Given the description of an element on the screen output the (x, y) to click on. 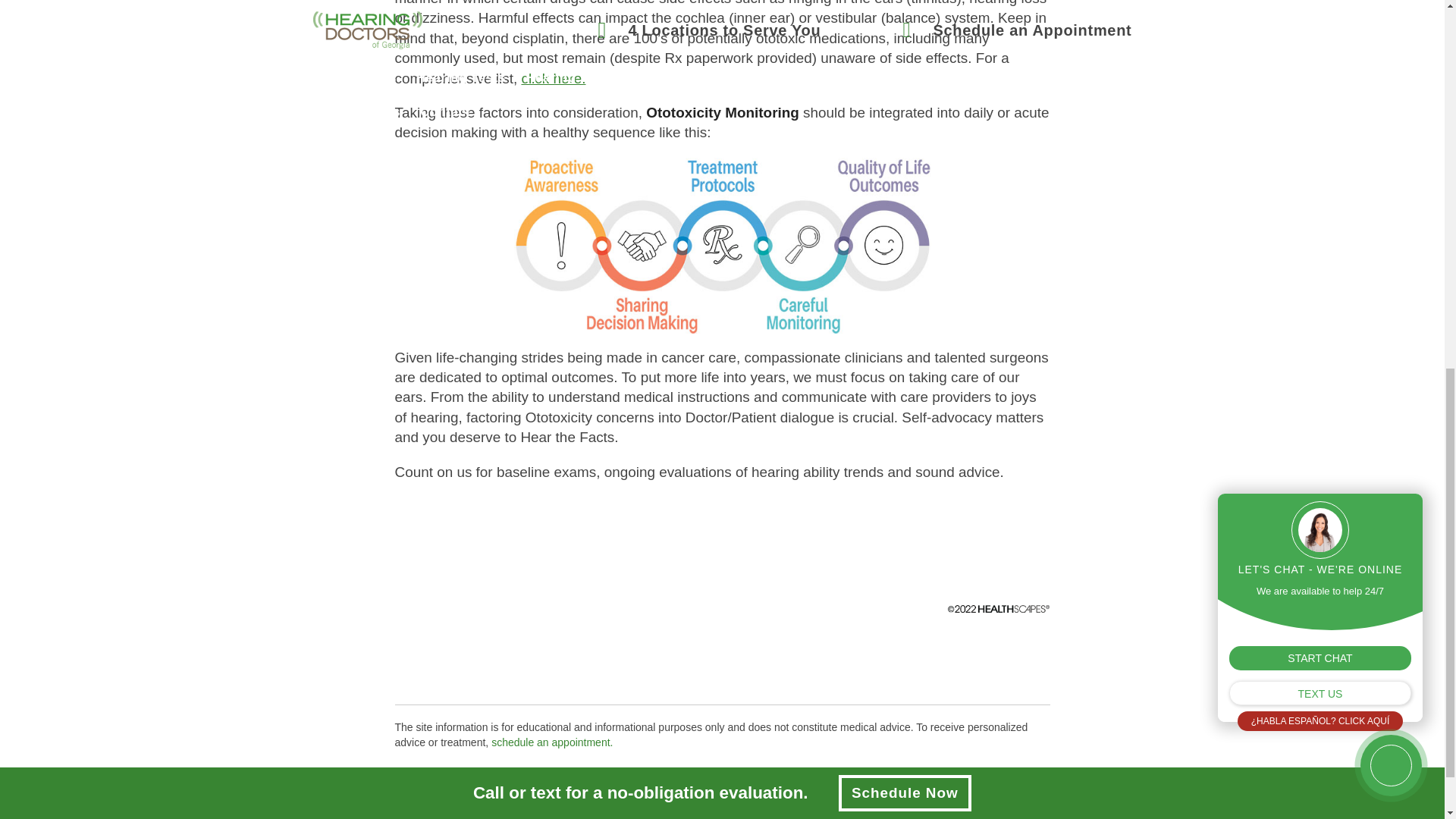
MedPB: Medical Practice Building, Marketing, Websites (459, 808)
2022-BW-Horizontal (998, 608)
